Given the description of an element on the screen output the (x, y) to click on. 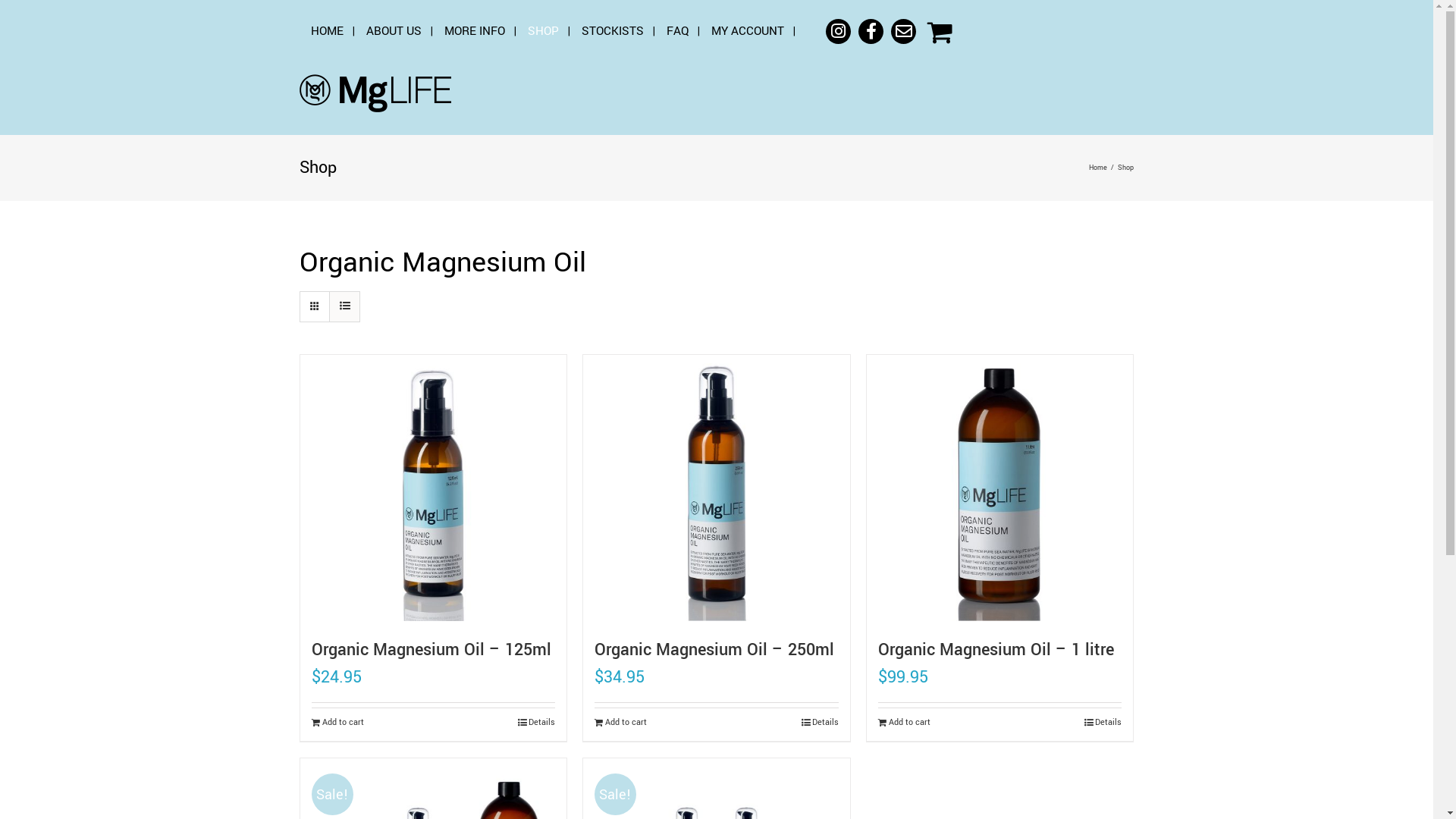
MORE INFO Element type: text (474, 31)
Details Element type: text (1102, 722)
Details Element type: text (819, 722)
HOME Element type: text (326, 31)
Add to cart Element type: text (904, 722)
Add to cart Element type: text (620, 722)
SHOP Element type: text (542, 31)
ABOUT US Element type: text (393, 31)
Home Element type: text (1097, 167)
MY ACCOUNT Element type: text (747, 31)
STOCKISTS Element type: text (612, 31)
Details Element type: text (536, 722)
Add to cart Element type: text (337, 722)
FAQ Element type: text (677, 31)
